Given the description of an element on the screen output the (x, y) to click on. 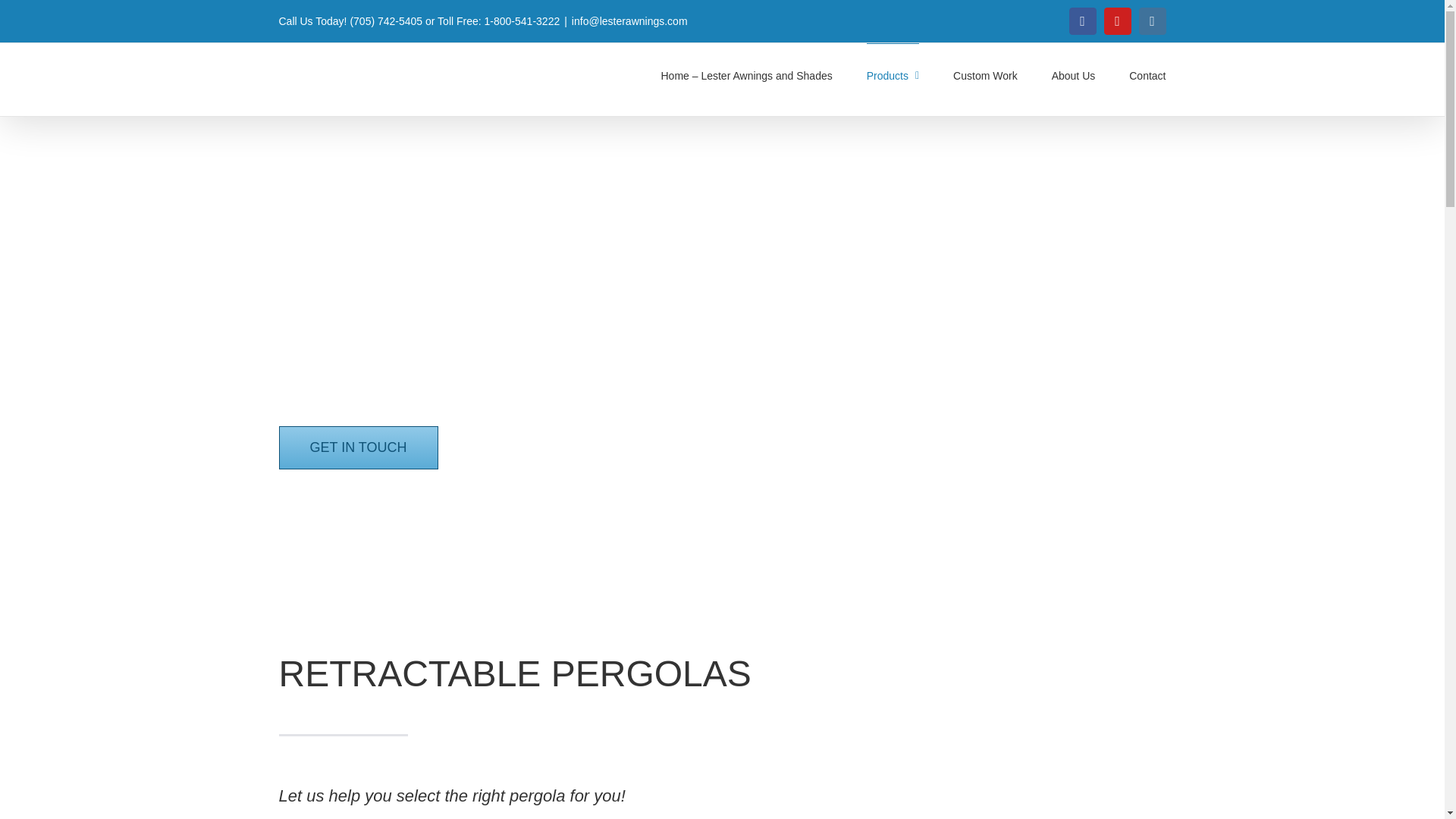
YouTube (1117, 21)
Facebook (1082, 21)
Custom Work (985, 75)
GET IN TOUCH (358, 447)
Instagram (1152, 21)
Facebook (1082, 21)
Instagram (1152, 21)
YouTube (1117, 21)
